Given the description of an element on the screen output the (x, y) to click on. 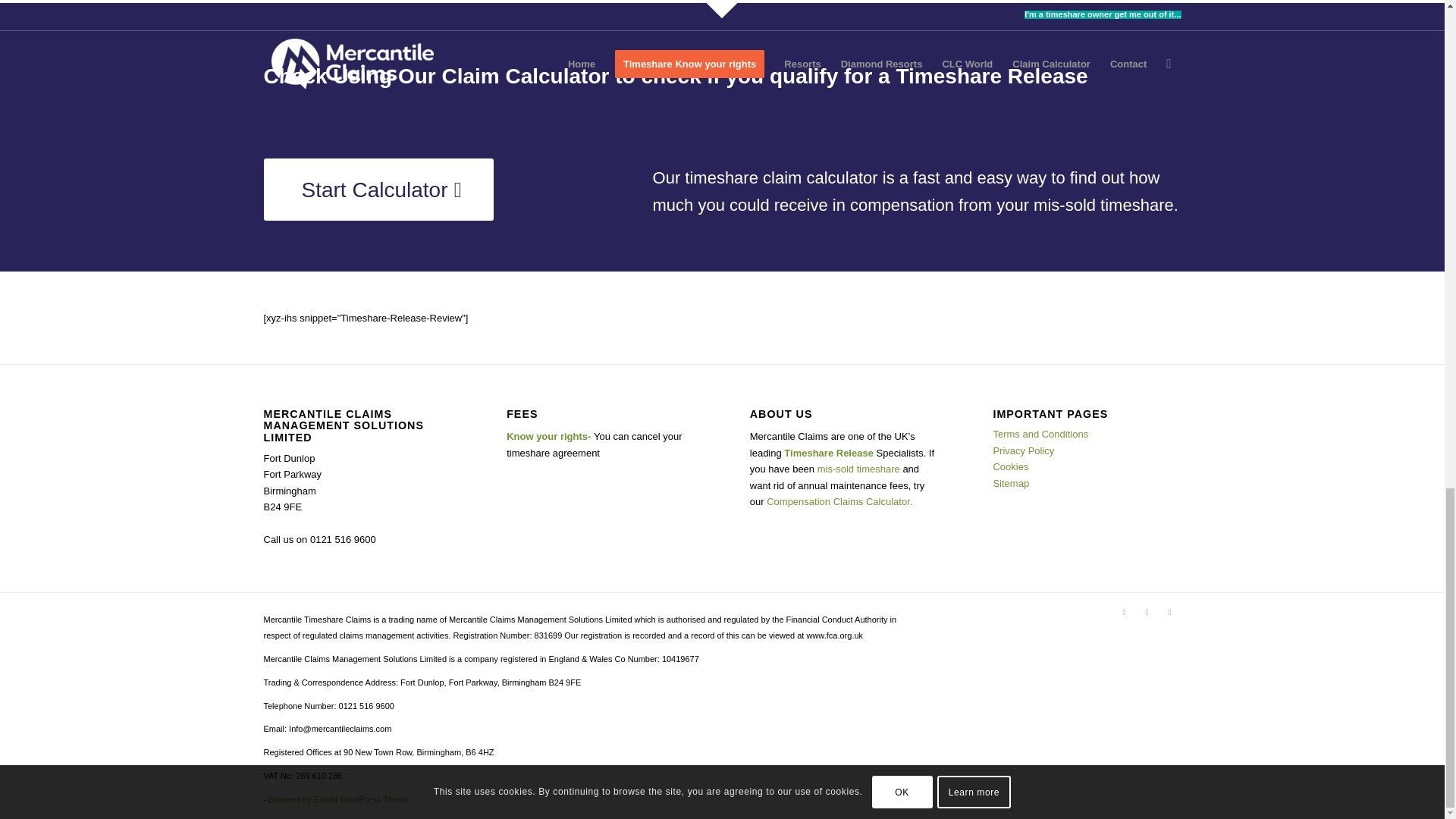
Youtube (1169, 611)
Facebook (1124, 611)
Twitter (1146, 611)
